Given the description of an element on the screen output the (x, y) to click on. 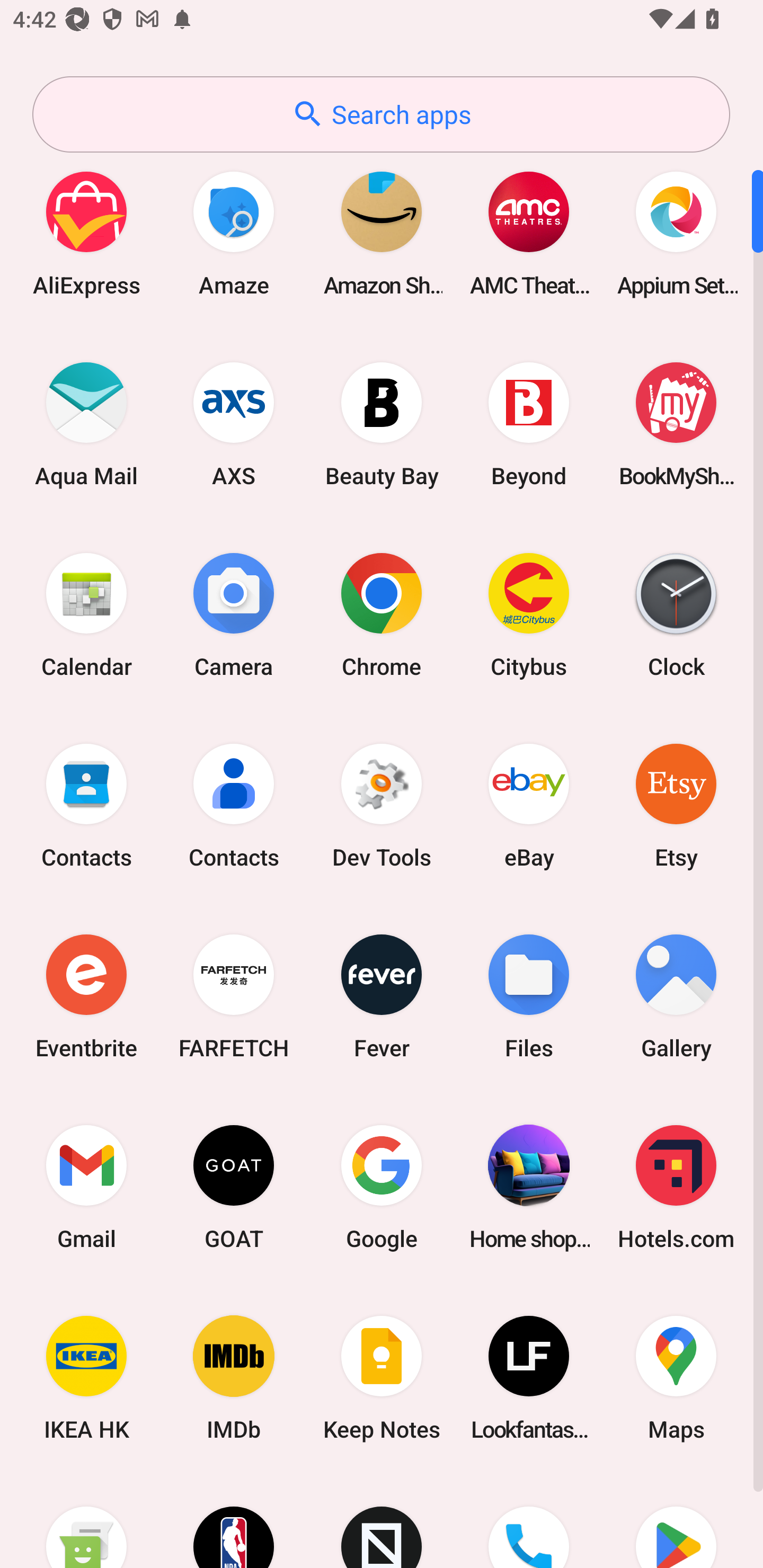
  Search apps (381, 114)
AliExpress (86, 233)
Amaze (233, 233)
Amazon Shopping (381, 233)
AMC Theatres (528, 233)
Appium Settings (676, 233)
Aqua Mail (86, 424)
AXS (233, 424)
Beauty Bay (381, 424)
Beyond (528, 424)
BookMyShow (676, 424)
Calendar (86, 614)
Camera (233, 614)
Chrome (381, 614)
Citybus (528, 614)
Clock (676, 614)
Contacts (86, 805)
Contacts (233, 805)
Dev Tools (381, 805)
eBay (528, 805)
Etsy (676, 805)
Eventbrite (86, 996)
FARFETCH (233, 996)
Fever (381, 996)
Files (528, 996)
Gallery (676, 996)
Gmail (86, 1186)
GOAT (233, 1186)
Google (381, 1186)
Home shopping (528, 1186)
Hotels.com (676, 1186)
IKEA HK (86, 1377)
IMDb (233, 1377)
Keep Notes (381, 1377)
Lookfantastic (528, 1377)
Maps (676, 1377)
Messaging (86, 1520)
NBA (233, 1520)
Novelship (381, 1520)
Phone (528, 1520)
Play Store (676, 1520)
